Given the description of an element on the screen output the (x, y) to click on. 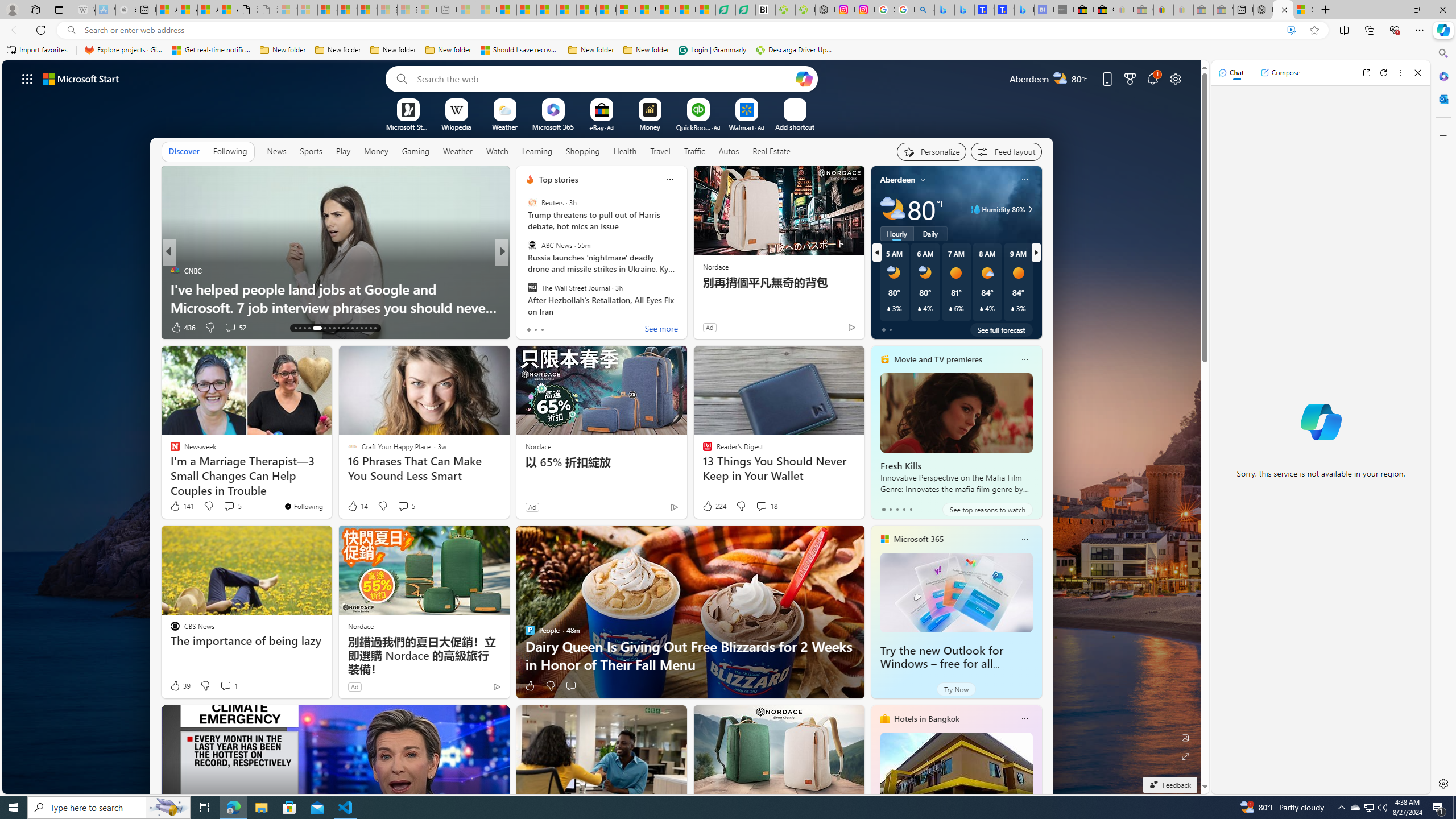
Powerful negotiation techniques you need to know (684, 307)
See top reasons to watch (987, 509)
Temperature Trends Spell Disaster For This Age Group (684, 298)
20 Like (530, 327)
View comments 8 Comment (576, 327)
